Given the description of an element on the screen output the (x, y) to click on. 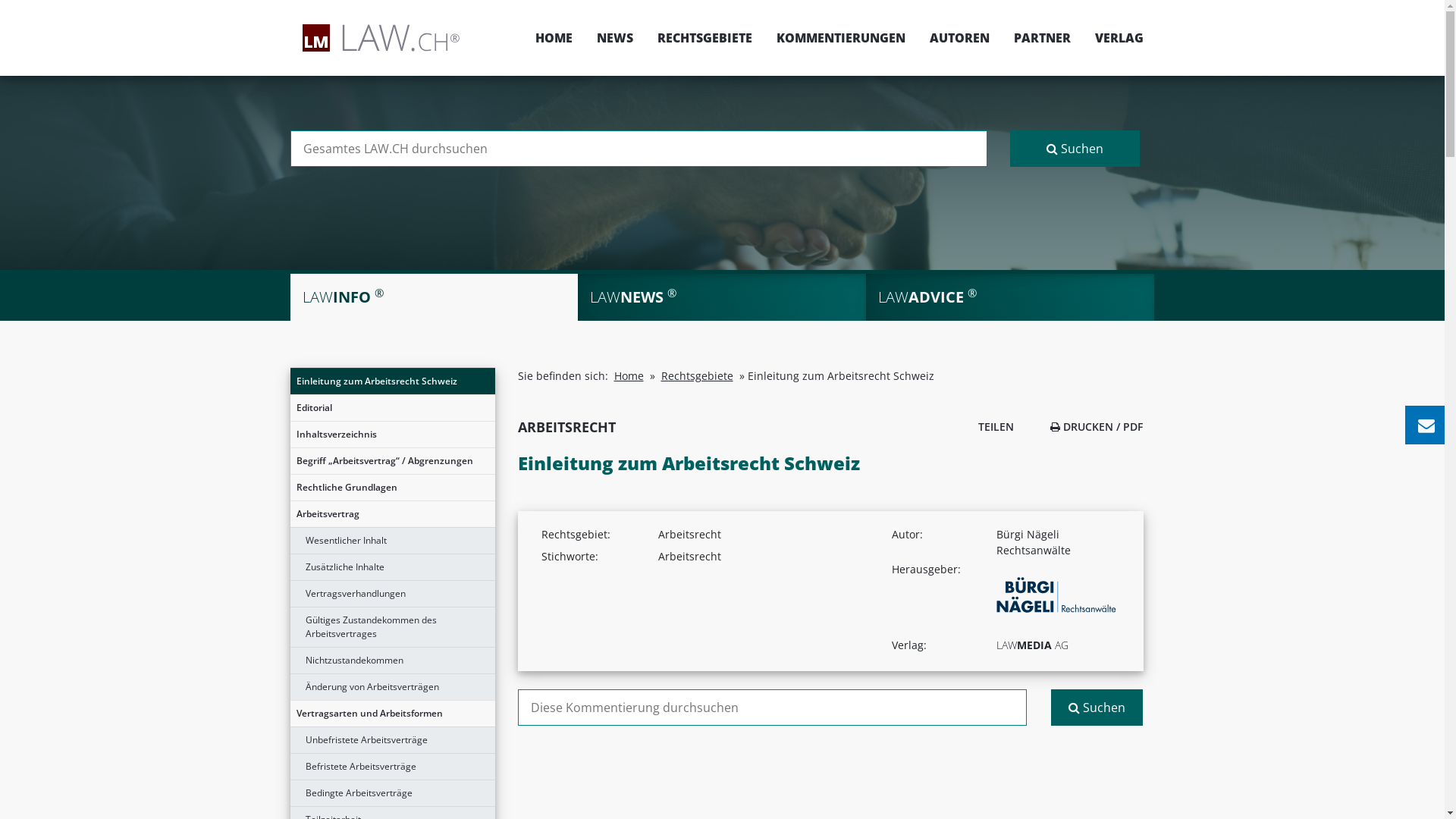
Skip to content Element type: text (1443, 0)
PARTNER Element type: text (1041, 37)
HOME Element type: text (553, 37)
 TEILEN Element type: text (991, 426)
Einleitung zum Arbeitsrecht Schweiz Element type: text (391, 381)
Editorial Element type: text (391, 407)
Rechtliche Grundlagen Element type: text (391, 487)
VERLAG Element type: text (1112, 37)
AUTOREN Element type: text (959, 37)
Arbeitsvertrag Element type: text (391, 514)
Rechtsgebiete Element type: text (697, 375)
Vertragsverhandlungen Element type: text (391, 593)
Vertragsarten und Arbeitsformen Element type: text (391, 713)
Suchen nach: Element type: hover (771, 707)
NEWS Element type: text (613, 37)
KOMMENTIERUNGEN Element type: text (840, 37)
Suchen nach: Element type: hover (637, 148)
Home Element type: text (628, 375)
Inhaltsverzeichnis Element type: text (391, 434)
Nichtzustandekommen Element type: text (391, 660)
 DRUCKEN / PDF Element type: text (1096, 426)
Wesentlicher Inhalt Element type: text (391, 540)
RECHTSGEBIETE Element type: text (703, 37)
